Given the description of an element on the screen output the (x, y) to click on. 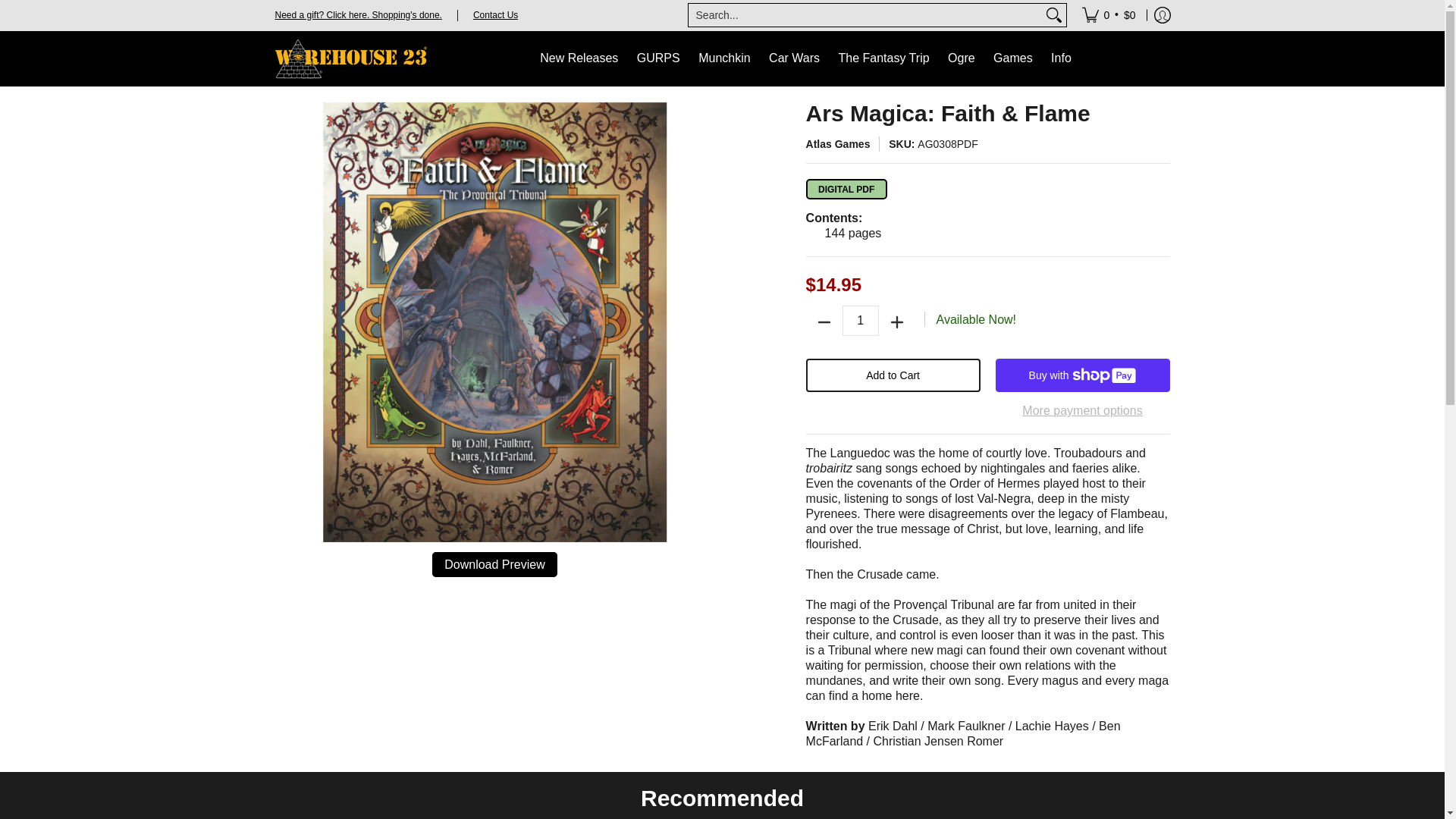
Games (1013, 58)
New Releases (579, 58)
GURPS (657, 58)
Warehouse 23 Gift Certificate (358, 14)
Skip to Main Content (276, 111)
Car Wars (794, 58)
Contact Us (495, 14)
Car Wars (794, 58)
Need a gift? Click here. Shopping's done. (358, 14)
Munchkin (723, 58)
Warehouse 23 (350, 58)
Info (1060, 58)
Munchkin (723, 58)
The Fantasy Trip (884, 58)
1 (861, 320)
